Given the description of an element on the screen output the (x, y) to click on. 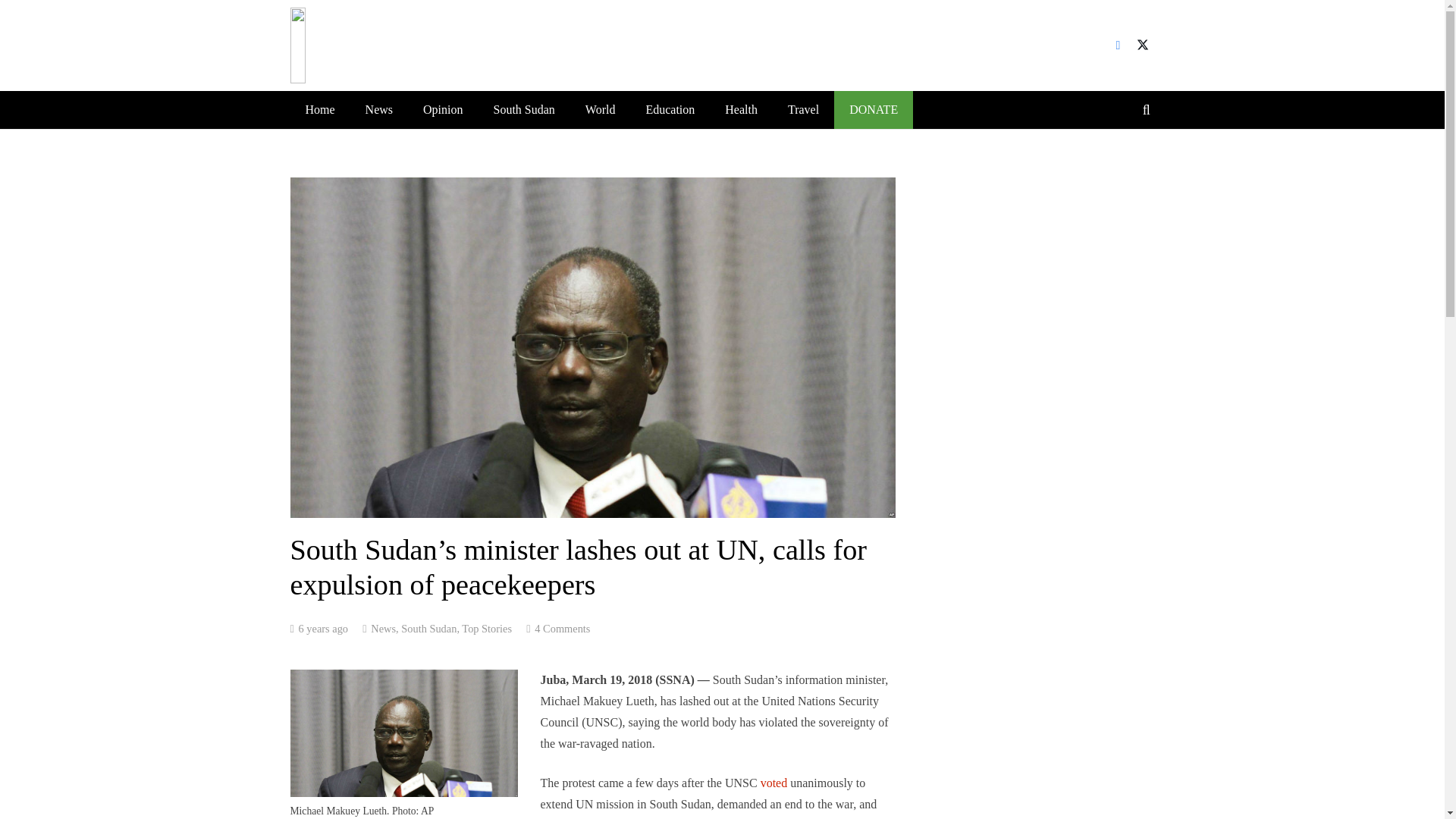
World (600, 109)
Top Stories (486, 628)
News (383, 628)
Twitter (1141, 45)
voted (773, 782)
Opinion (442, 109)
4 Comments (561, 628)
South Sudan (523, 109)
News (378, 109)
Education (670, 109)
